Given the description of an element on the screen output the (x, y) to click on. 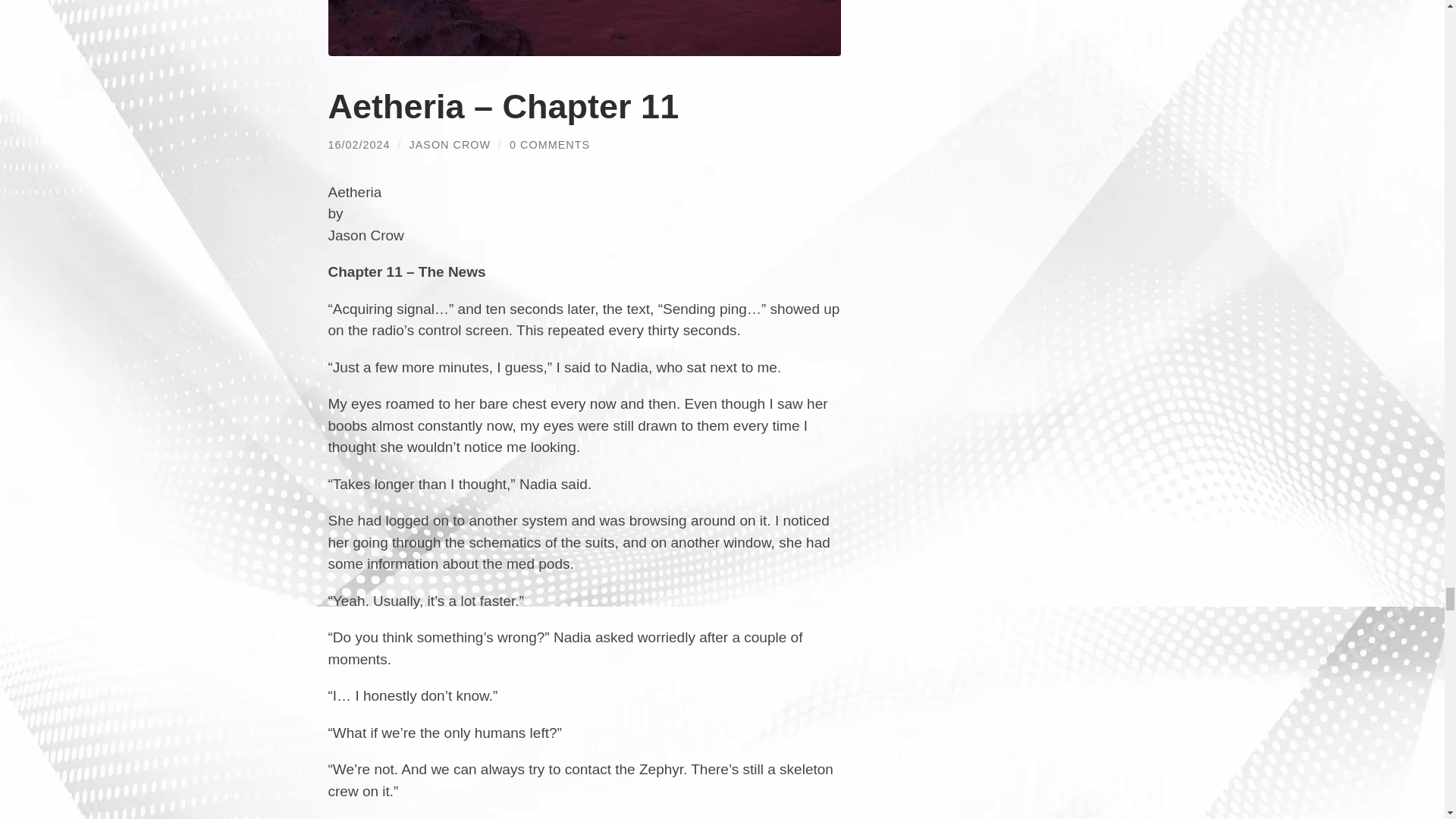
Posts by Jason Crow (450, 144)
